Given the description of an element on the screen output the (x, y) to click on. 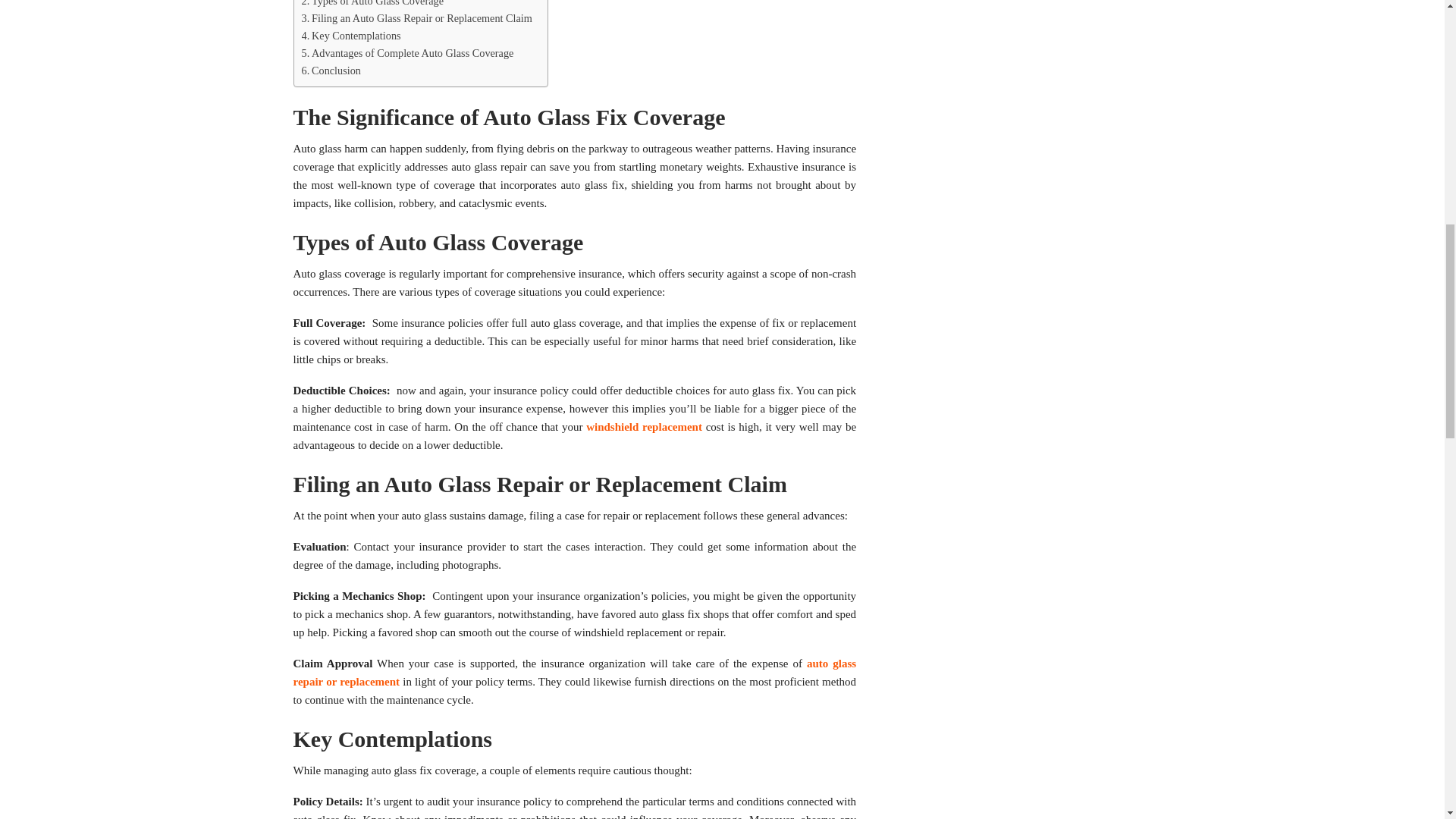
Conclusion (331, 70)
Key Contemplations (351, 36)
auto glass repair or replacement (574, 672)
Conclusion (331, 70)
Types of Auto Glass Coverage (372, 4)
windshield replacement (643, 426)
Types of Auto Glass Coverage (372, 4)
Filing an Auto Glass Repair or Replacement Claim (416, 18)
Key Contemplations (351, 36)
Advantages of Complete Auto Glass Coverage (407, 53)
Advantages of Complete Auto Glass Coverage (407, 53)
Filing an Auto Glass Repair or Replacement Claim (416, 18)
